Given the description of an element on the screen output the (x, y) to click on. 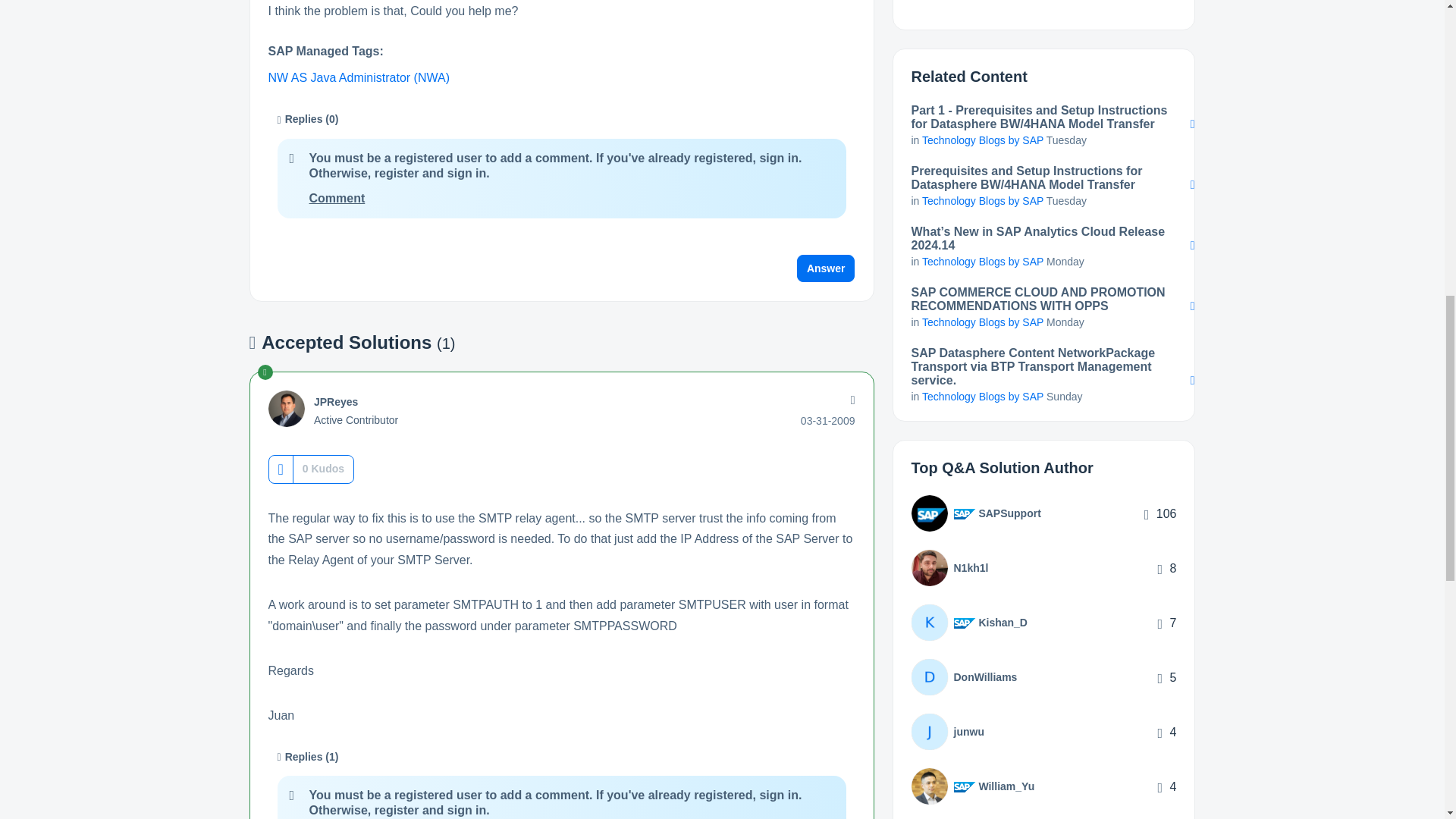
JPReyes (285, 408)
Answer (826, 267)
Comment (336, 197)
Posted on (828, 420)
JPReyes (336, 401)
